Given the description of an element on the screen output the (x, y) to click on. 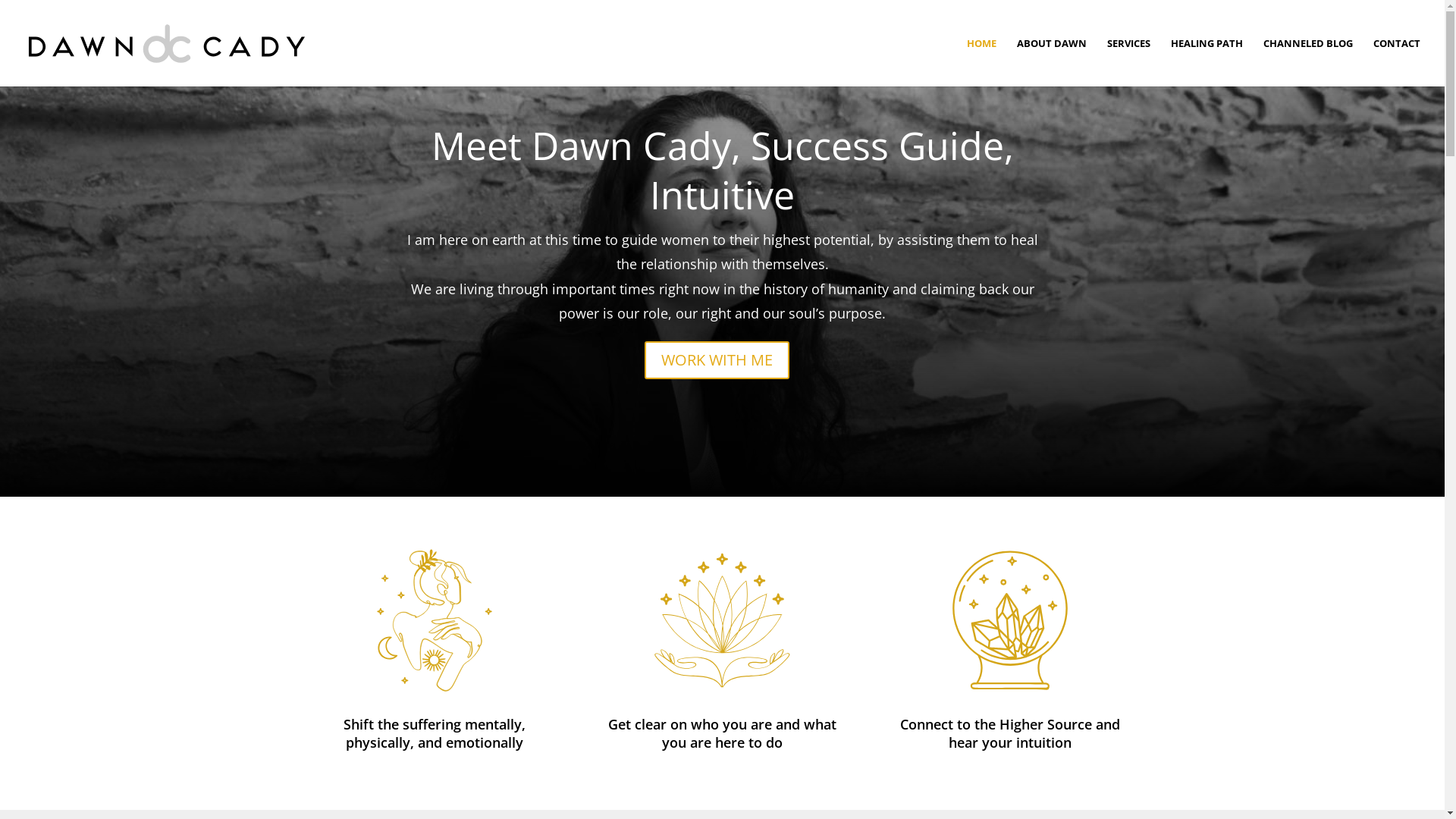
CHANNELED BLOG Element type: text (1307, 61)
HOME Element type: text (981, 61)
HEALING PATH Element type: text (1206, 61)
CONTACT Element type: text (1396, 61)
WORK WITH ME Element type: text (716, 360)
SERVICES Element type: text (1128, 61)
ABOUT DAWN Element type: text (1051, 61)
